Given the description of an element on the screen output the (x, y) to click on. 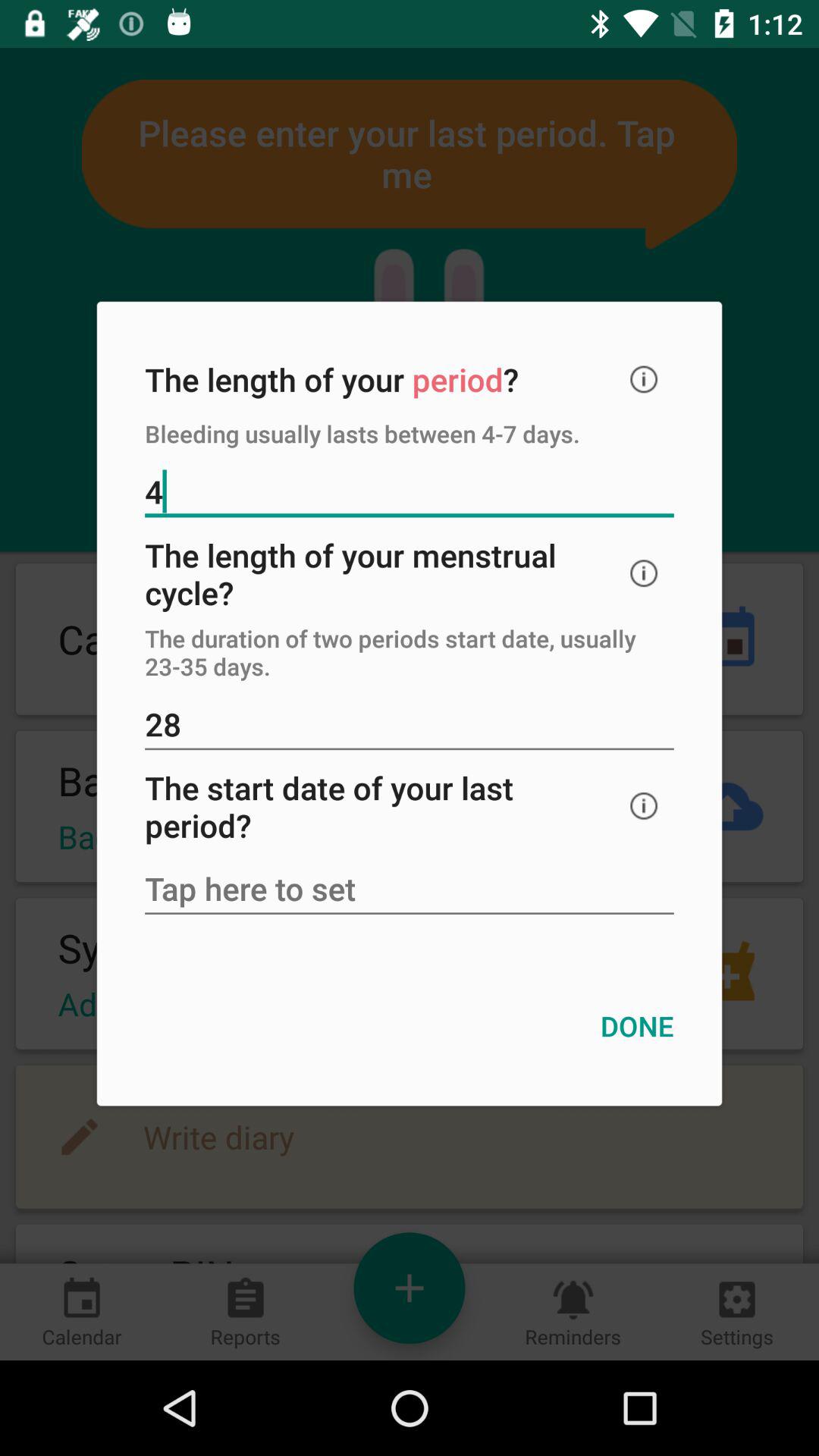
information (643, 379)
